Given the description of an element on the screen output the (x, y) to click on. 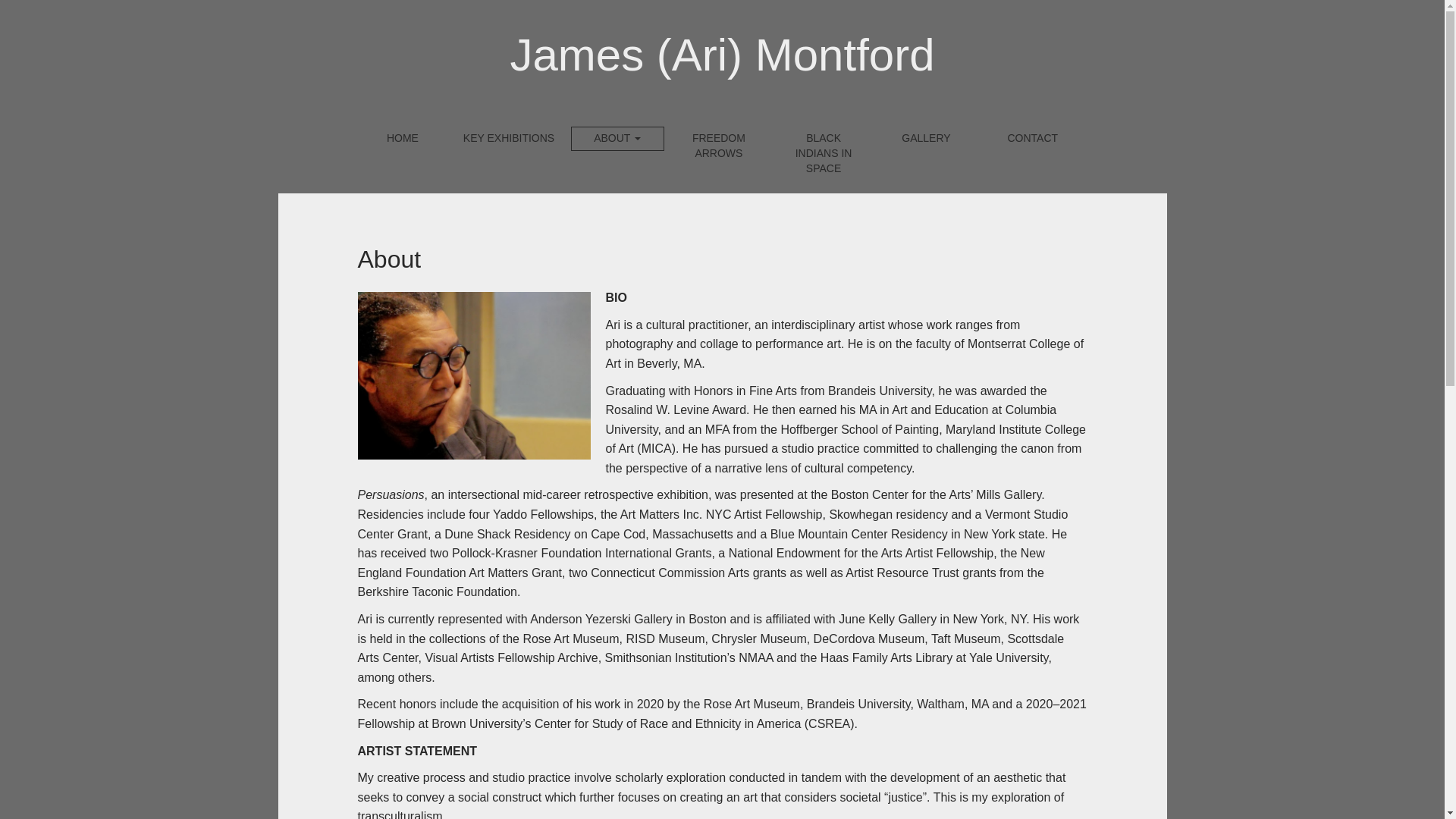
HOME (402, 138)
ABOUT (616, 138)
GALLERY (925, 138)
CONTACT (1032, 138)
KEY EXHIBITIONS (508, 138)
FREEDOM ARROWS (718, 146)
BLACK INDIANS IN SPACE (823, 153)
